Given the description of an element on the screen output the (x, y) to click on. 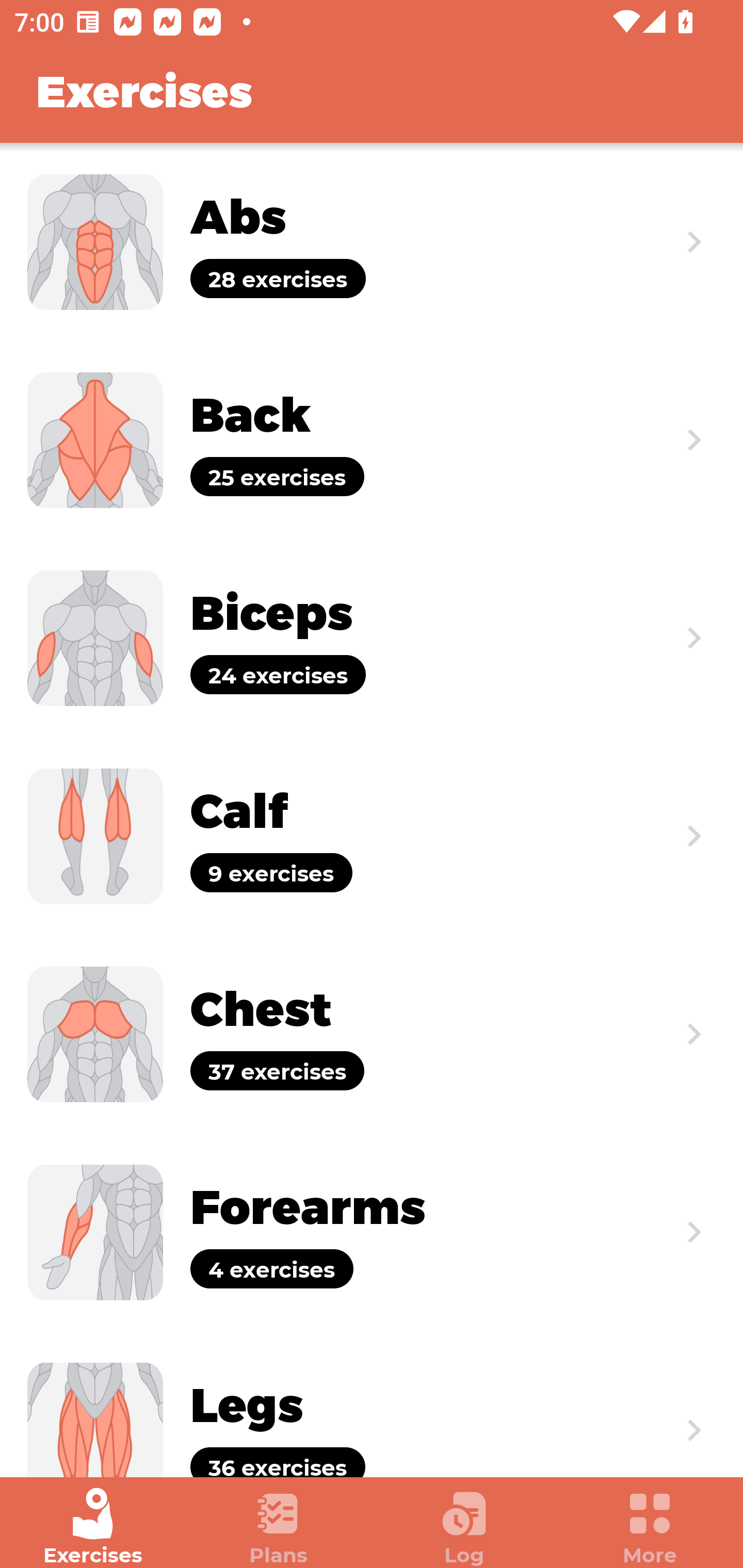
Exercise Abs 28 exercises (371, 241)
Exercise Back 25 exercises (371, 439)
Exercise Biceps 24 exercises (371, 637)
Exercise Calf 9 exercises (371, 836)
Exercise Chest 37 exercises (371, 1033)
Exercise Forearms 4 exercises (371, 1232)
Exercise Legs 36 exercises (371, 1404)
Exercises (92, 1527)
Plans (278, 1527)
Log (464, 1527)
More (650, 1527)
